Given the description of an element on the screen output the (x, y) to click on. 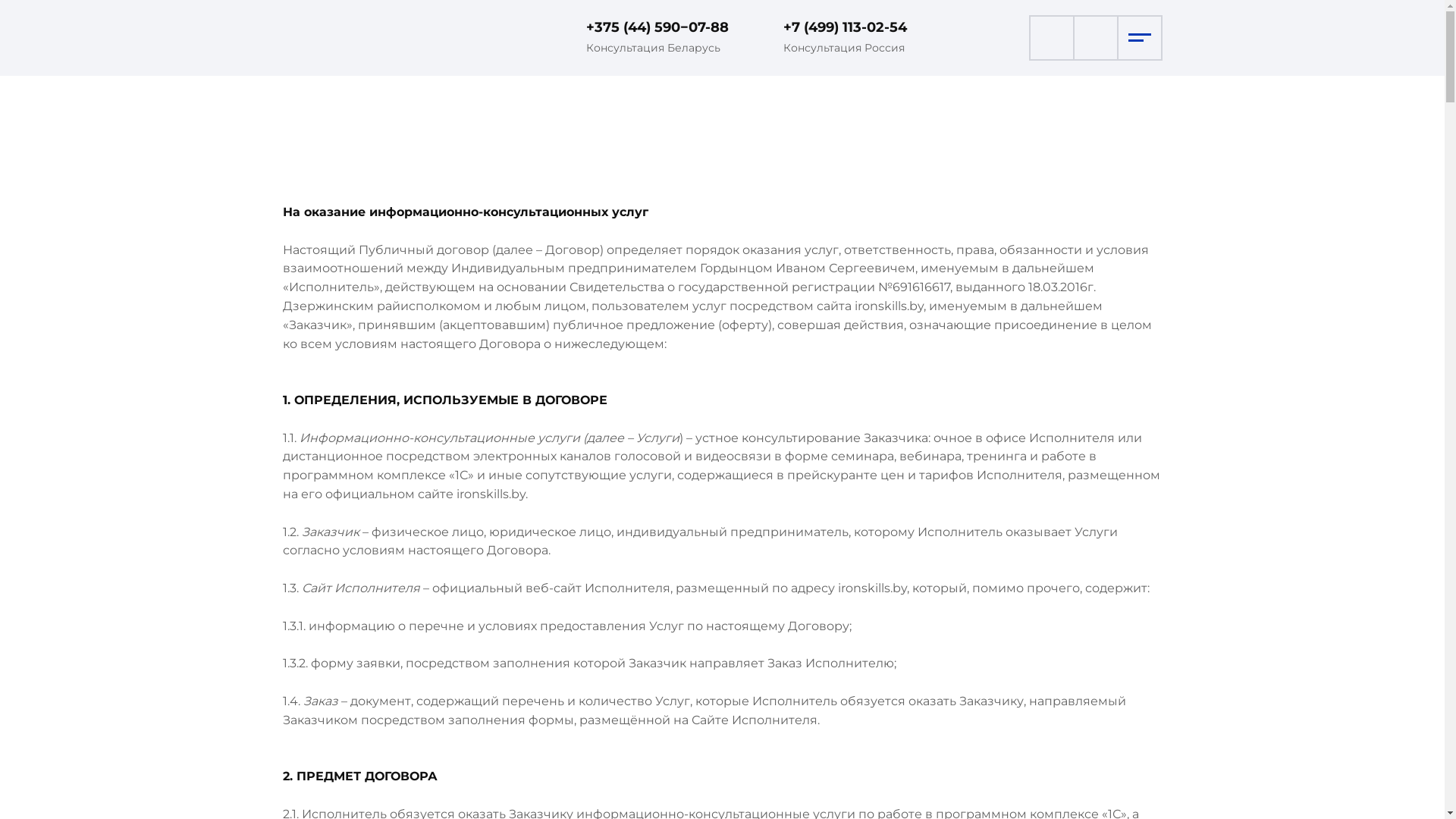
+7 (499) 113-02-54 Element type: text (844, 26)
